Given the description of an element on the screen output the (x, y) to click on. 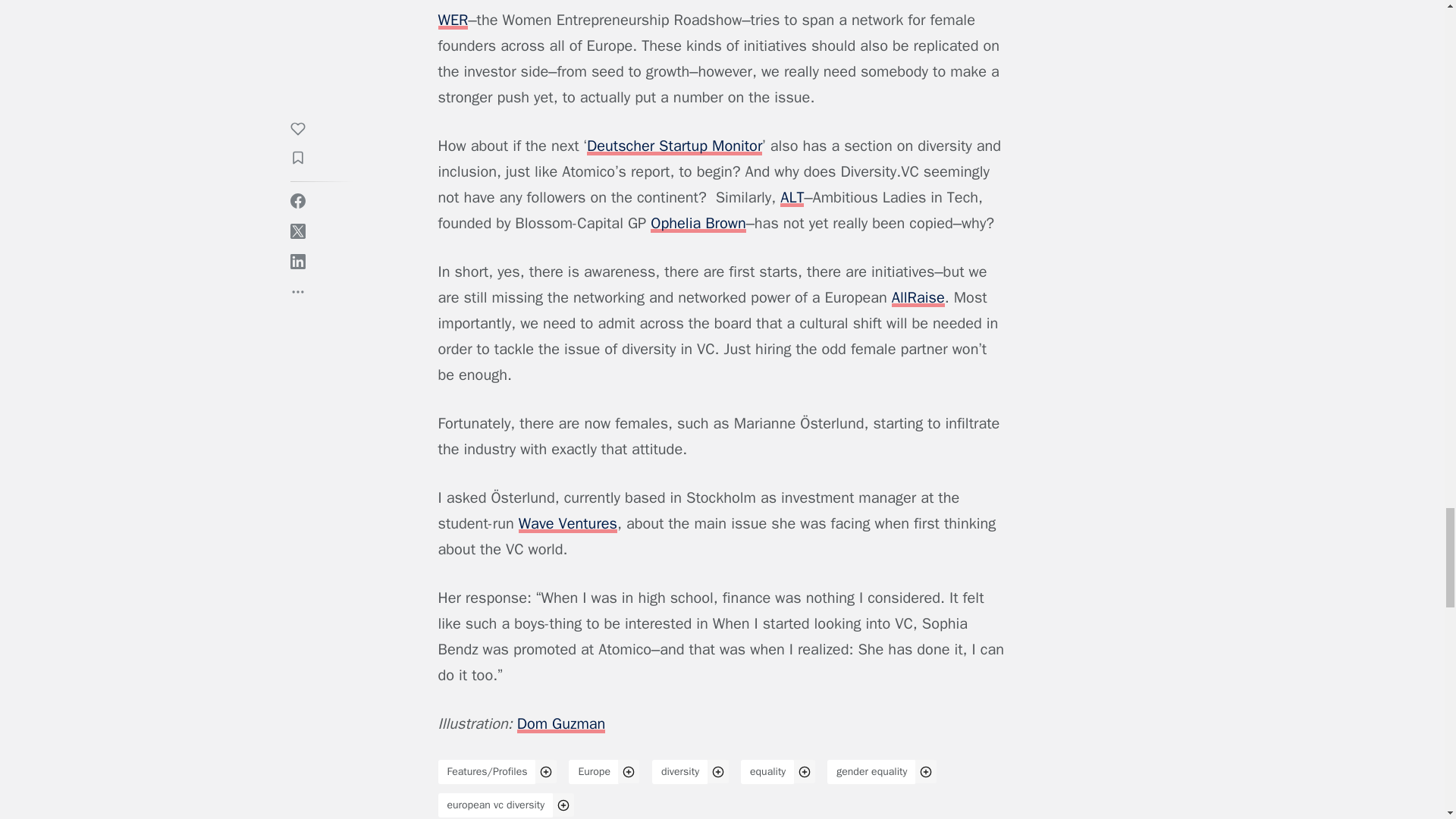
gender equality (871, 771)
european vc diversity (496, 805)
Europe (594, 771)
diversity (679, 771)
equality (767, 771)
